Given the description of an element on the screen output the (x, y) to click on. 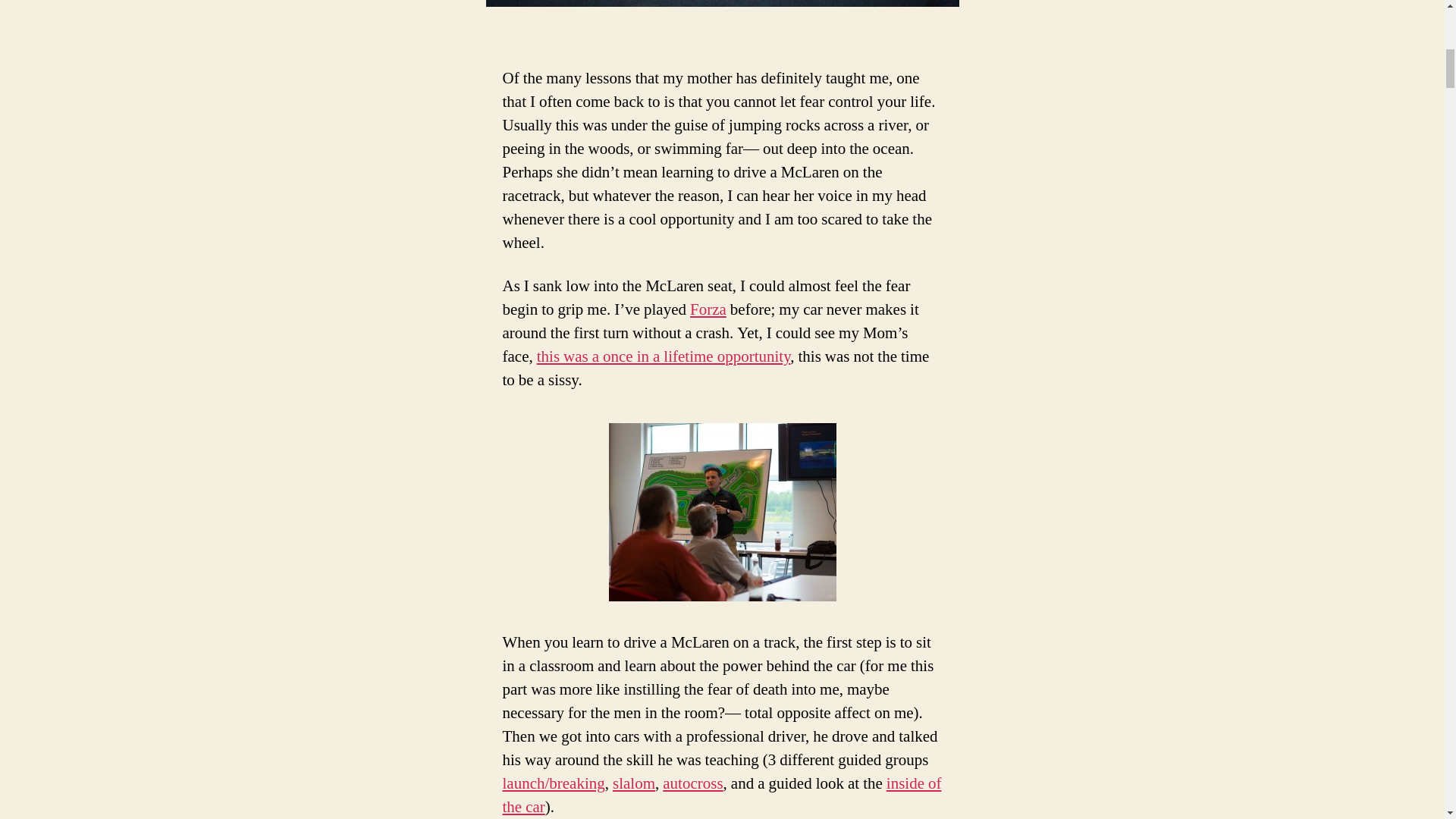
inside of the car (721, 795)
this was a once in a lifetime opportunity (663, 356)
slalom (633, 783)
Forza (708, 309)
autocross (692, 783)
